Given the description of an element on the screen output the (x, y) to click on. 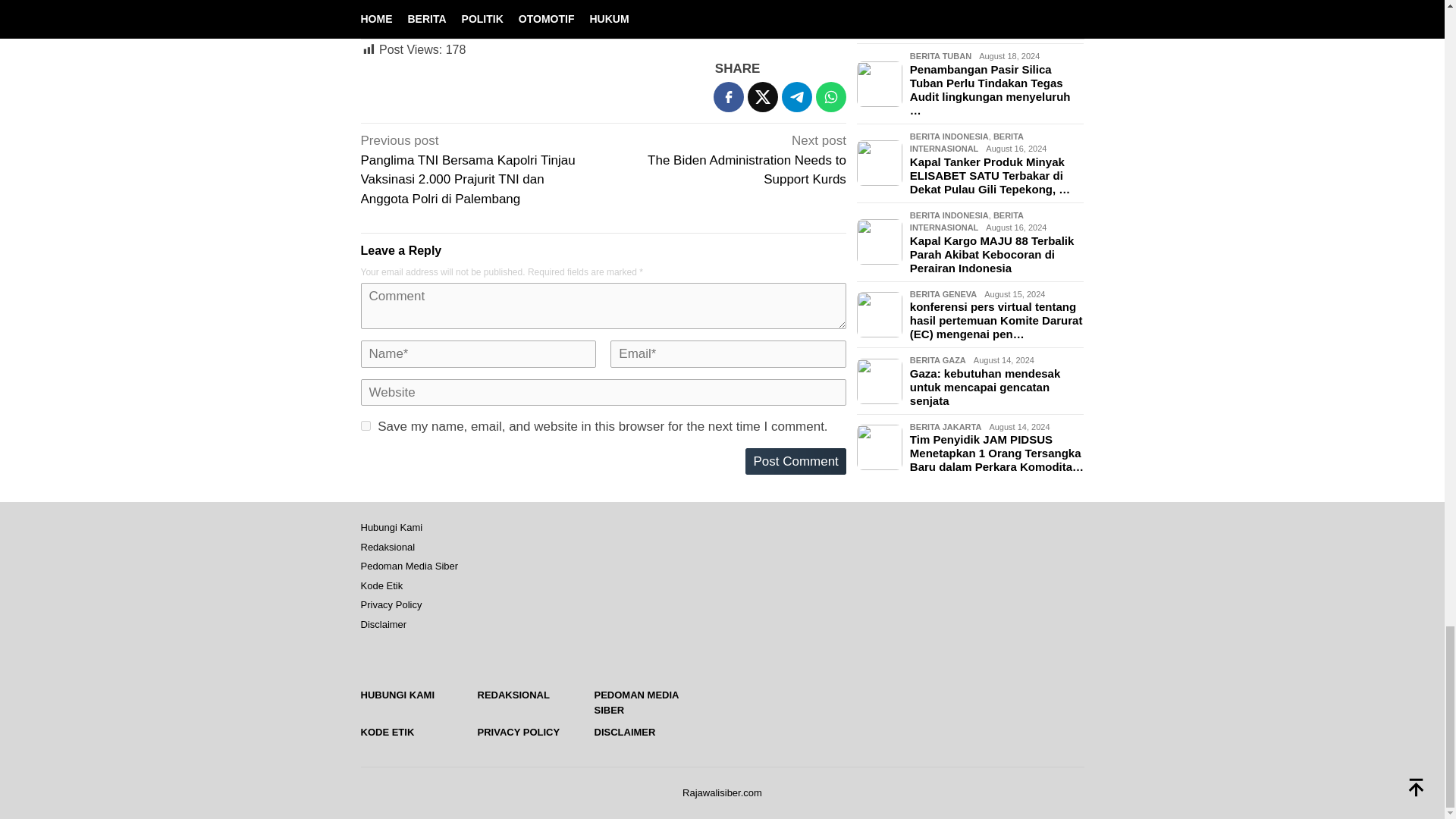
Tweet this (762, 96)
Post Comment (795, 461)
yes (366, 425)
Share this (728, 96)
Telegram Share (796, 96)
Post Comment (728, 158)
